Given the description of an element on the screen output the (x, y) to click on. 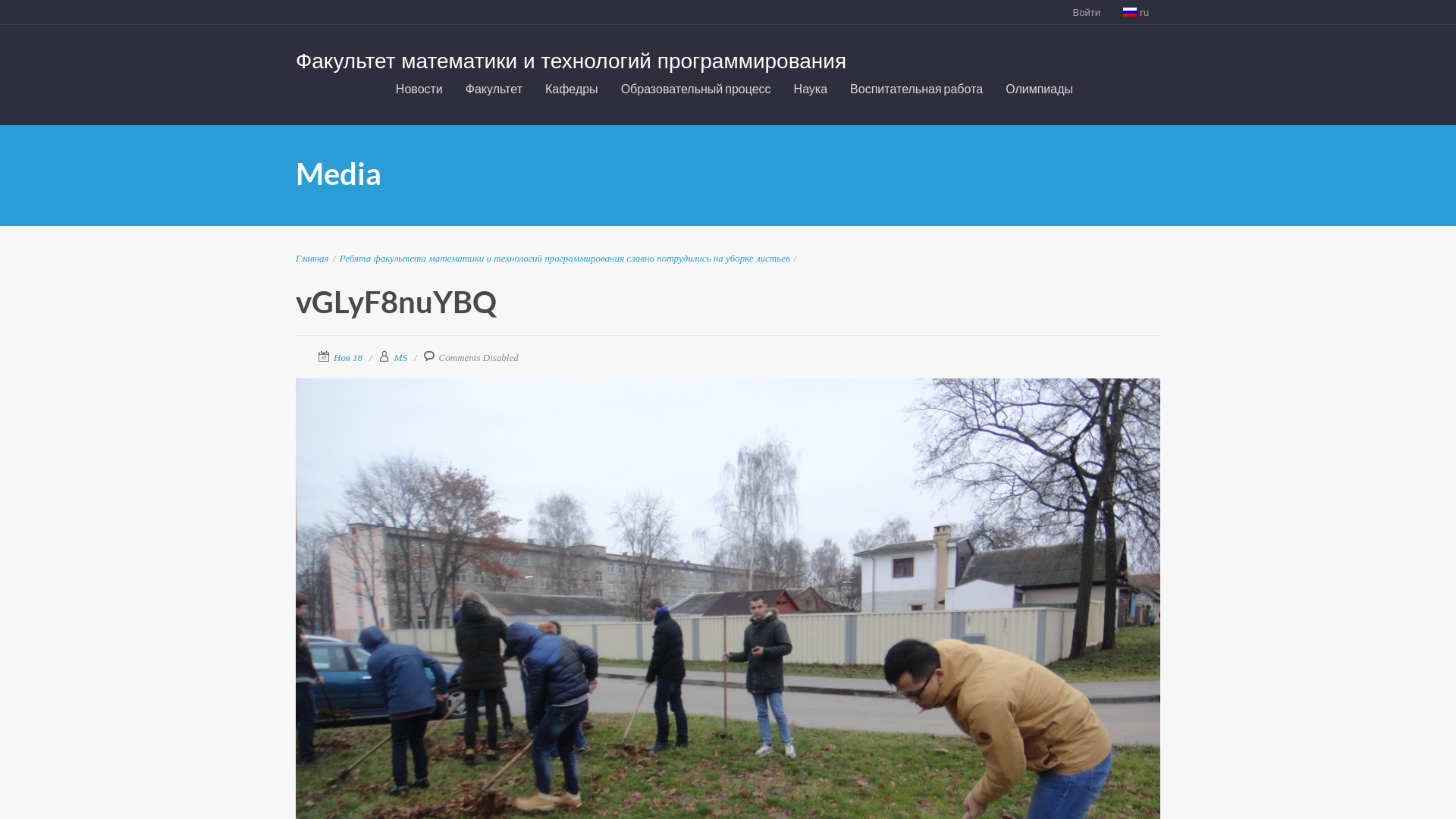
MS Element type: text (400, 357)
ru Element type: text (1135, 12)
